Given the description of an element on the screen output the (x, y) to click on. 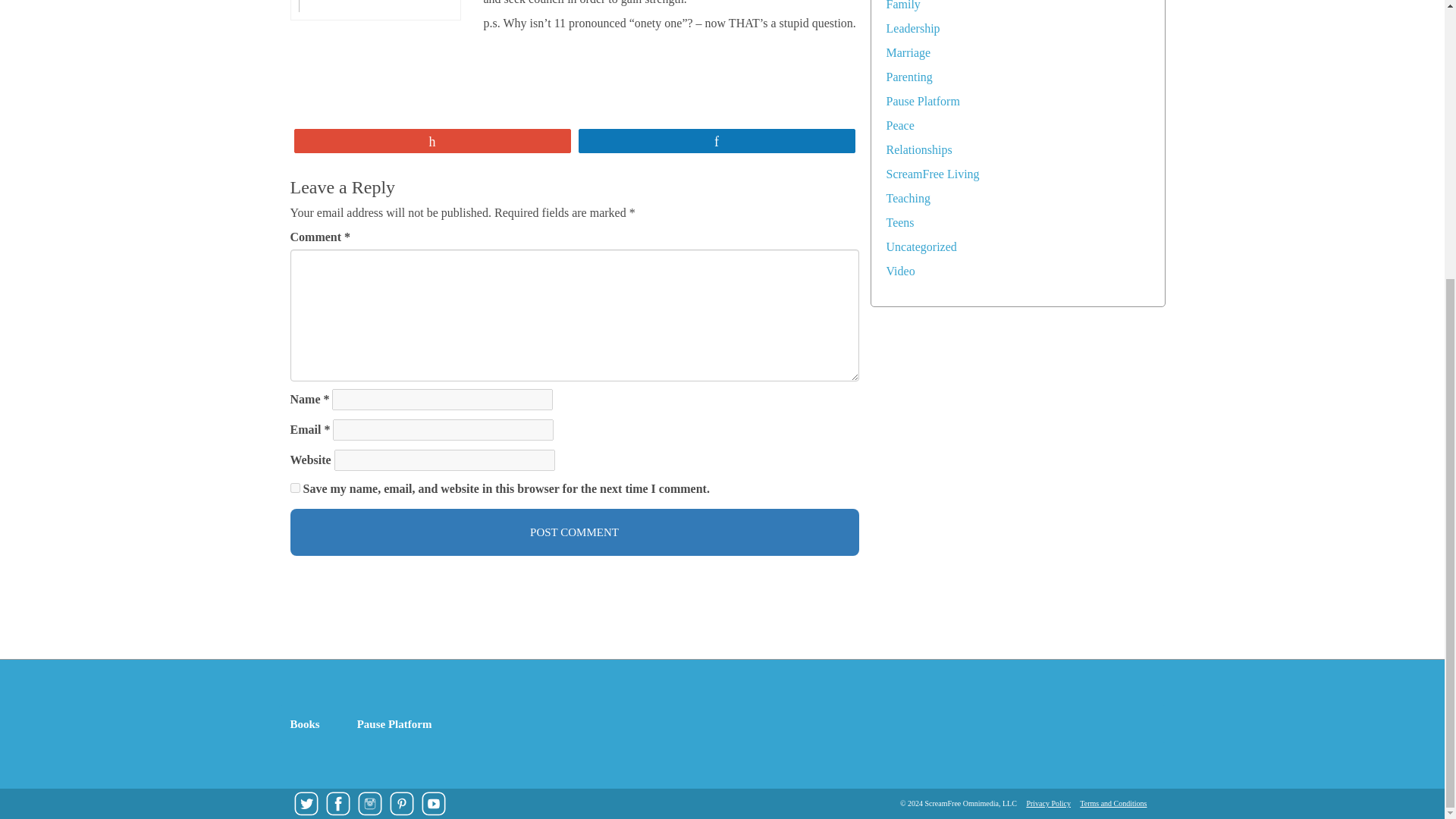
yes (294, 488)
Peace (899, 124)
Uncategorized (920, 246)
Pause Platform (922, 101)
Relationships (918, 149)
Leadership (912, 28)
Teaching (907, 197)
Family (902, 5)
Post Comment (574, 532)
Parenting (908, 76)
